Given the description of an element on the screen output the (x, y) to click on. 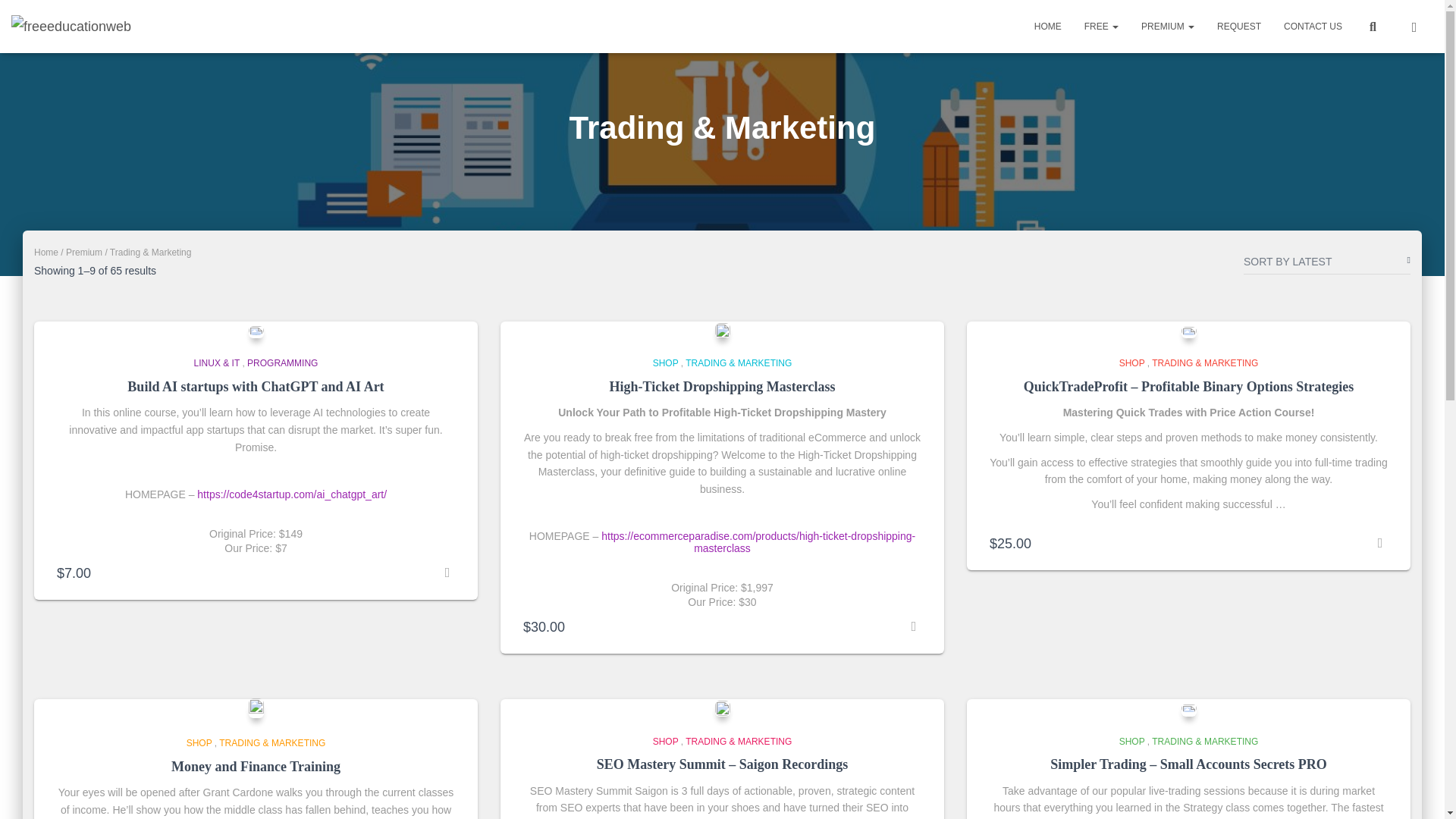
Home (45, 252)
SHOP (665, 362)
Free (1101, 26)
Search (3, 16)
PROGRAMMING (282, 362)
Home (1048, 26)
CONTACT US (1313, 26)
High-Ticket Dropshipping Masterclass (721, 386)
HOME (1048, 26)
Build AI startups with ChatGPT and AI Art (256, 386)
REQUEST (1238, 26)
FREE (1101, 26)
freeeducationweb (71, 26)
Premium (1167, 26)
PREMIUM (1167, 26)
